Given the description of an element on the screen output the (x, y) to click on. 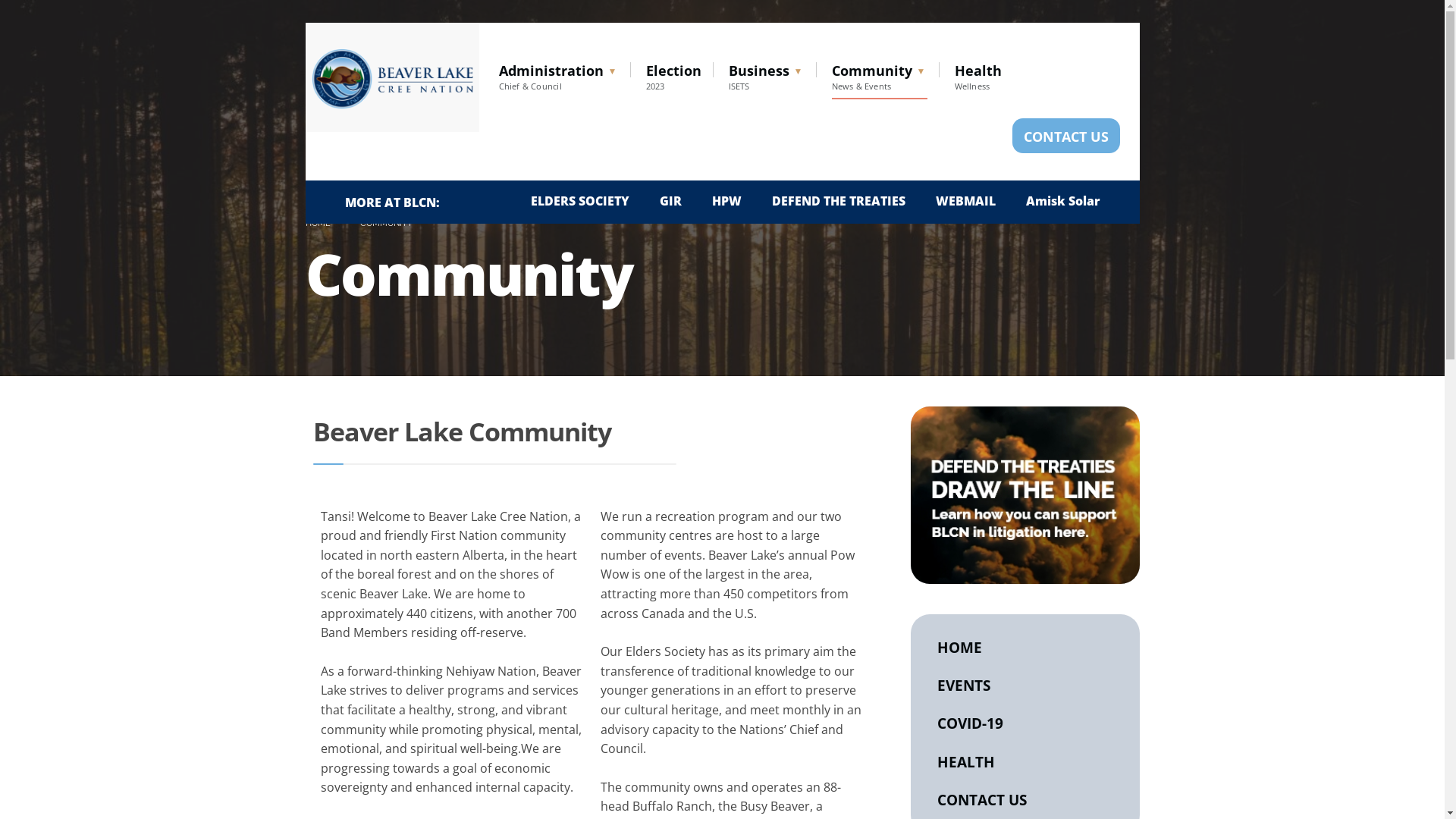
HPW Element type: text (725, 200)
COVID-19 Element type: text (1025, 723)
DEFEND THE TREATIES Element type: text (838, 200)
Business
ISETS Element type: text (765, 75)
Community
News & Events Element type: text (878, 75)
WEBMAIL Element type: text (965, 200)
Health
Wellness Element type: text (977, 75)
EVENTS Element type: text (1025, 685)
HOME Element type: text (316, 223)
Election
2023 Element type: text (673, 75)
Amisk Solar Element type: text (1062, 200)
CONTACT US Element type: text (1065, 135)
HEALTH Element type: text (1025, 762)
GIR Element type: text (670, 200)
HOME Element type: text (1025, 647)
ELDERS SOCIETY Element type: text (579, 200)
Administration
Chief & Council Element type: text (558, 75)
